Given the description of an element on the screen output the (x, y) to click on. 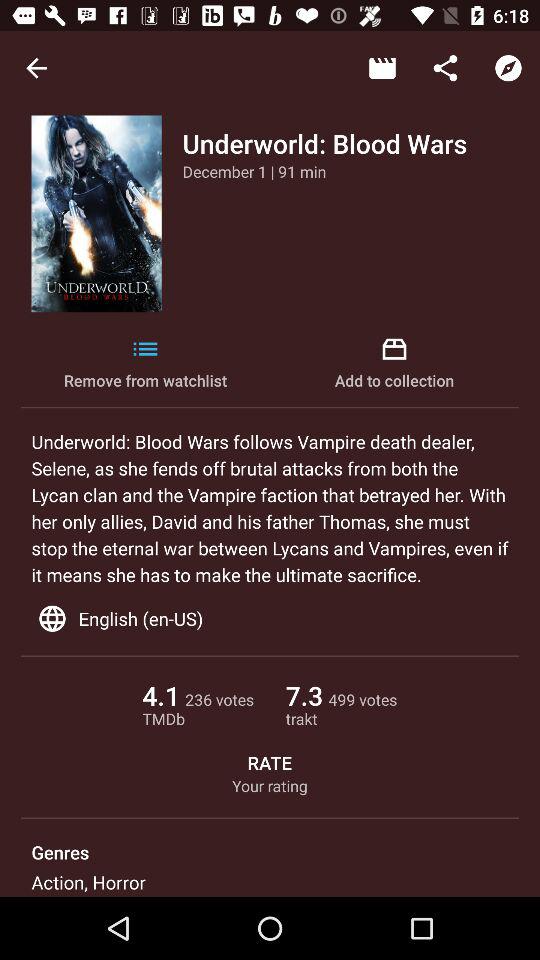
launch icon next to add to collection icon (145, 364)
